Given the description of an element on the screen output the (x, y) to click on. 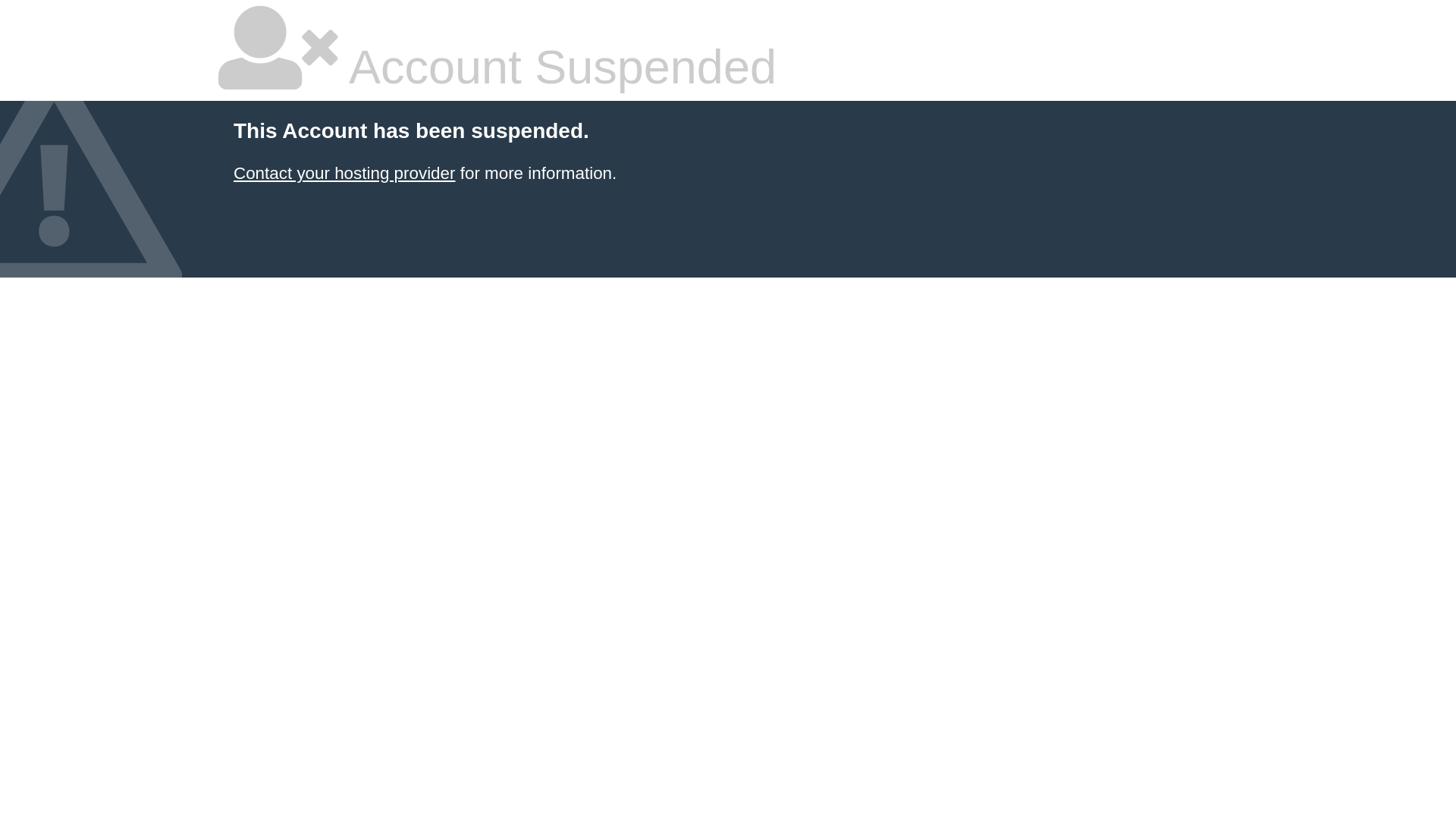
Contact your hosting provider Element type: text (344, 172)
